Given the description of an element on the screen output the (x, y) to click on. 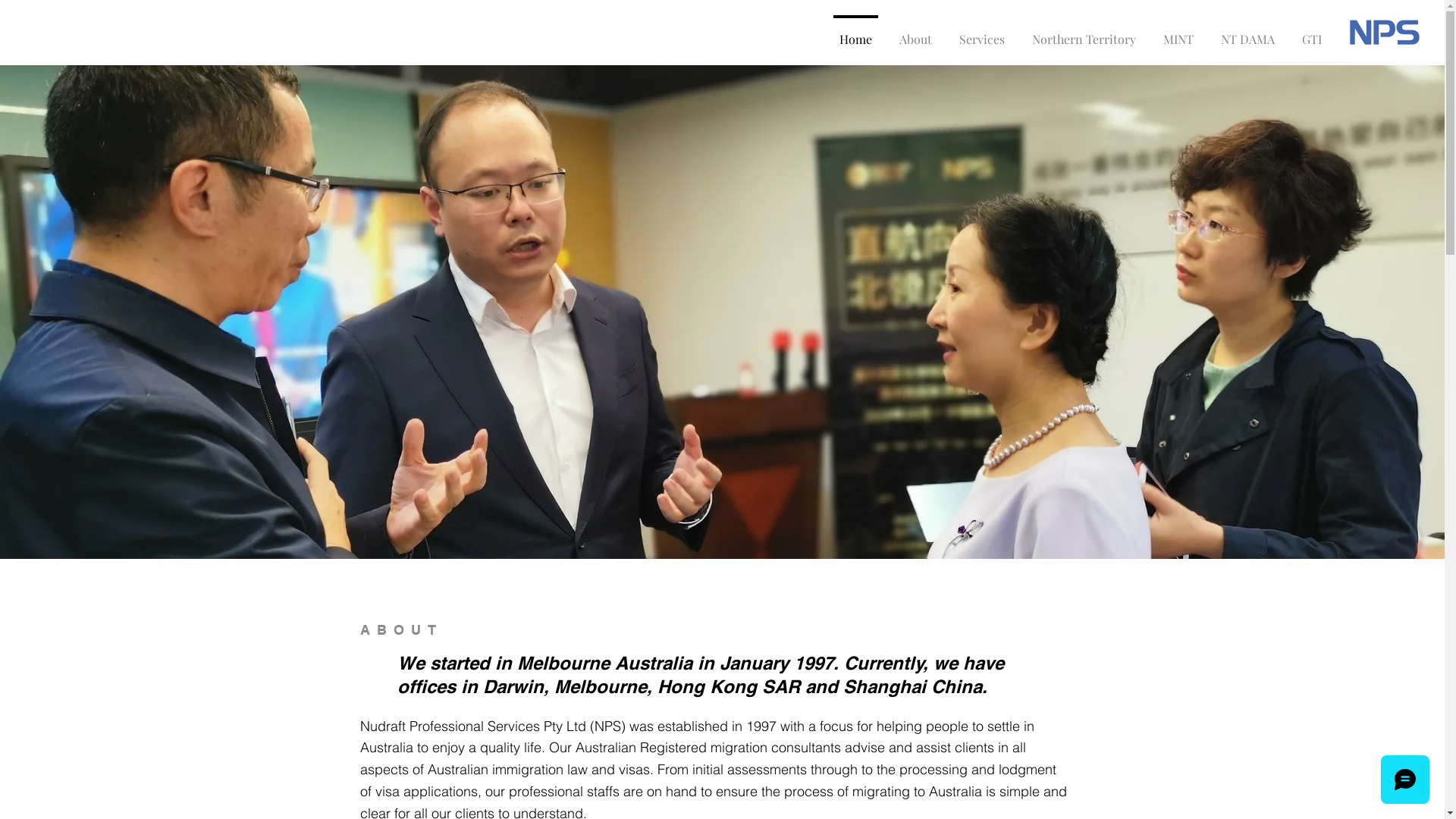
Northern Territory Element type: text (1083, 32)
Home Element type: text (855, 32)
Services Element type: text (981, 32)
NT DAMA Element type: text (1247, 32)
GTI Element type: text (1311, 32)
About Element type: text (915, 32)
MINT Element type: text (1178, 32)
